Given the description of an element on the screen output the (x, y) to click on. 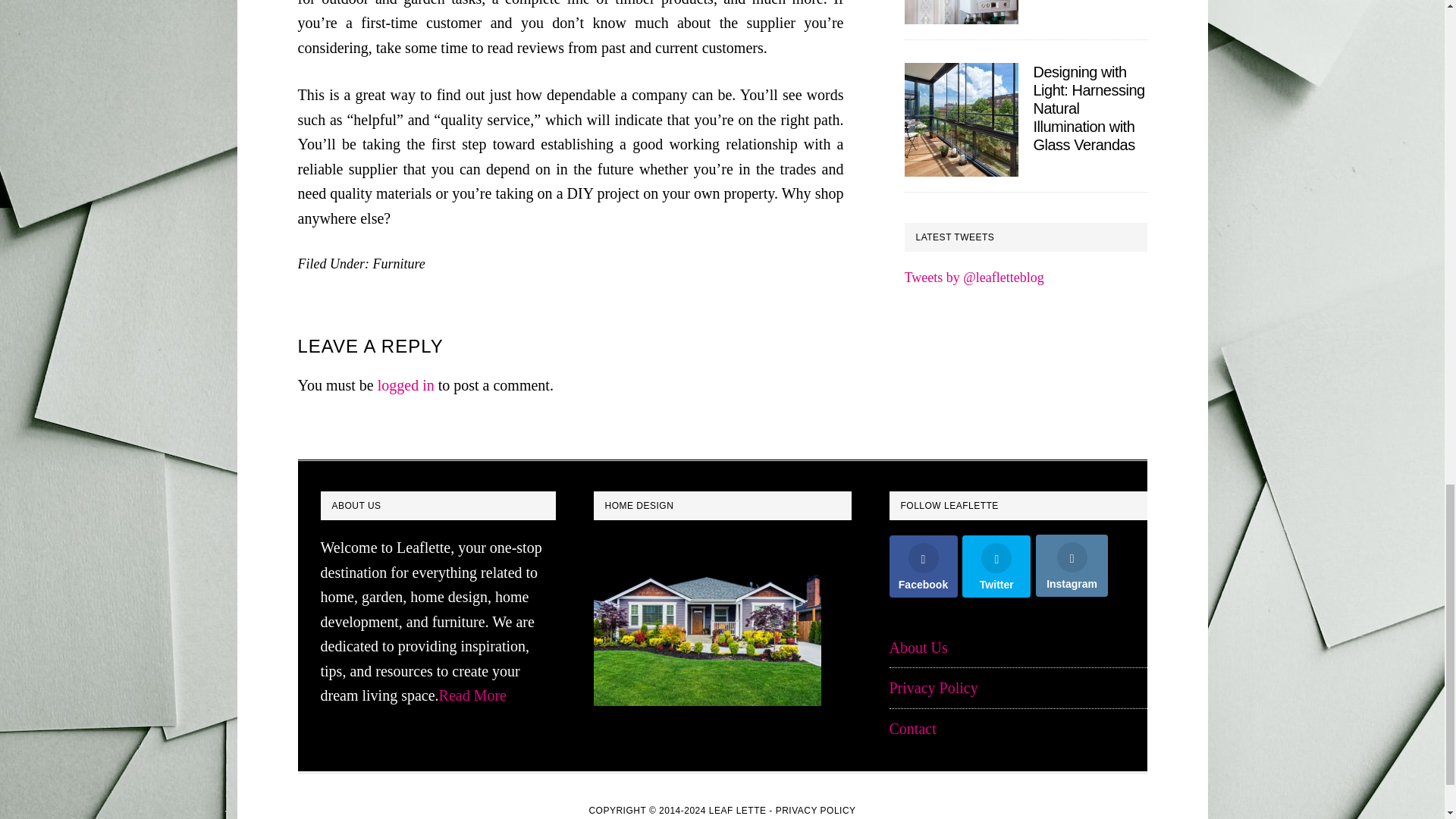
Furniture (398, 263)
logged in (405, 384)
